Given the description of an element on the screen output the (x, y) to click on. 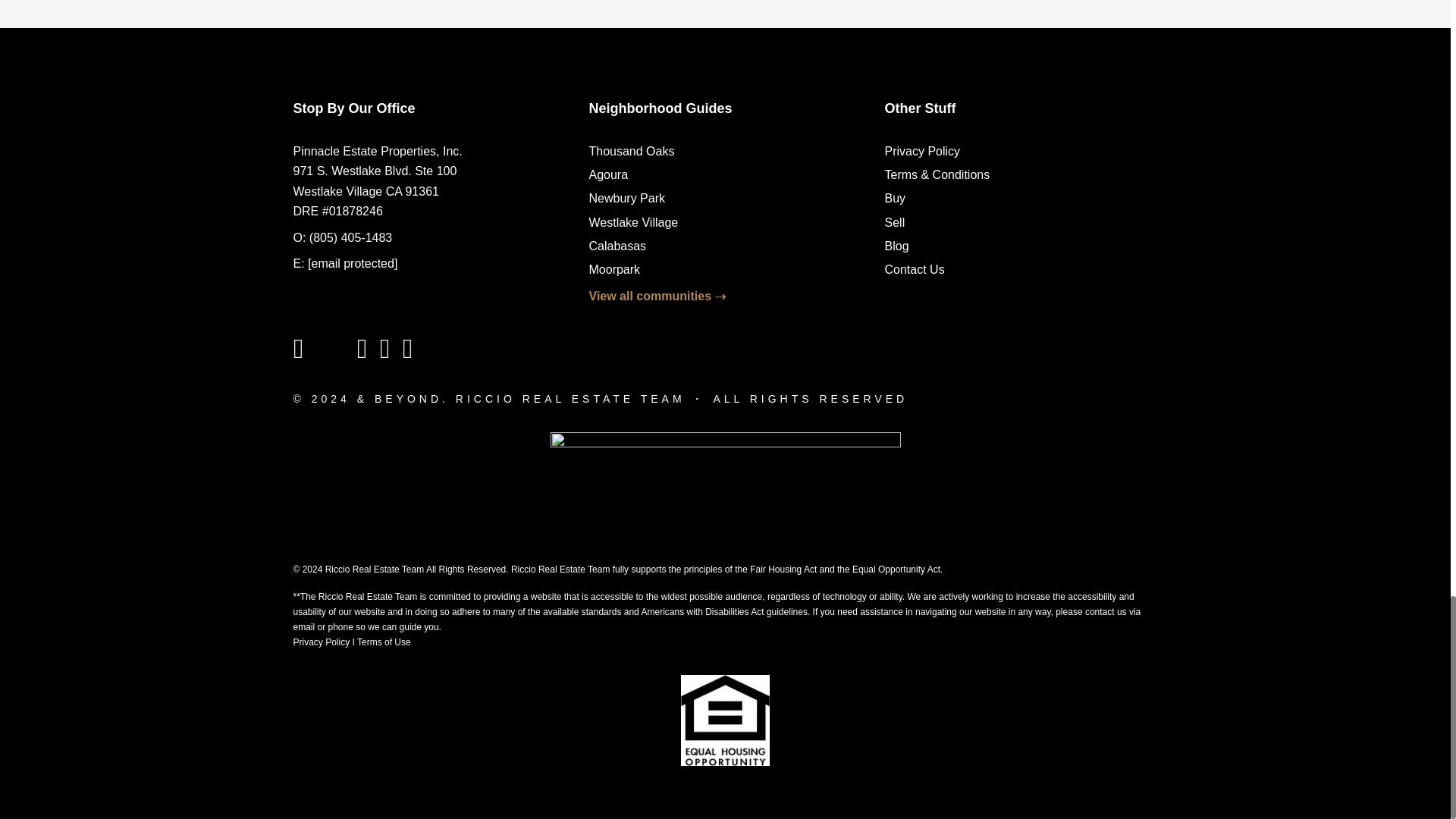
Westlake Village (633, 222)
Agoura (607, 174)
Thousand Oaks (631, 151)
Newbury Park (625, 197)
